Given the description of an element on the screen output the (x, y) to click on. 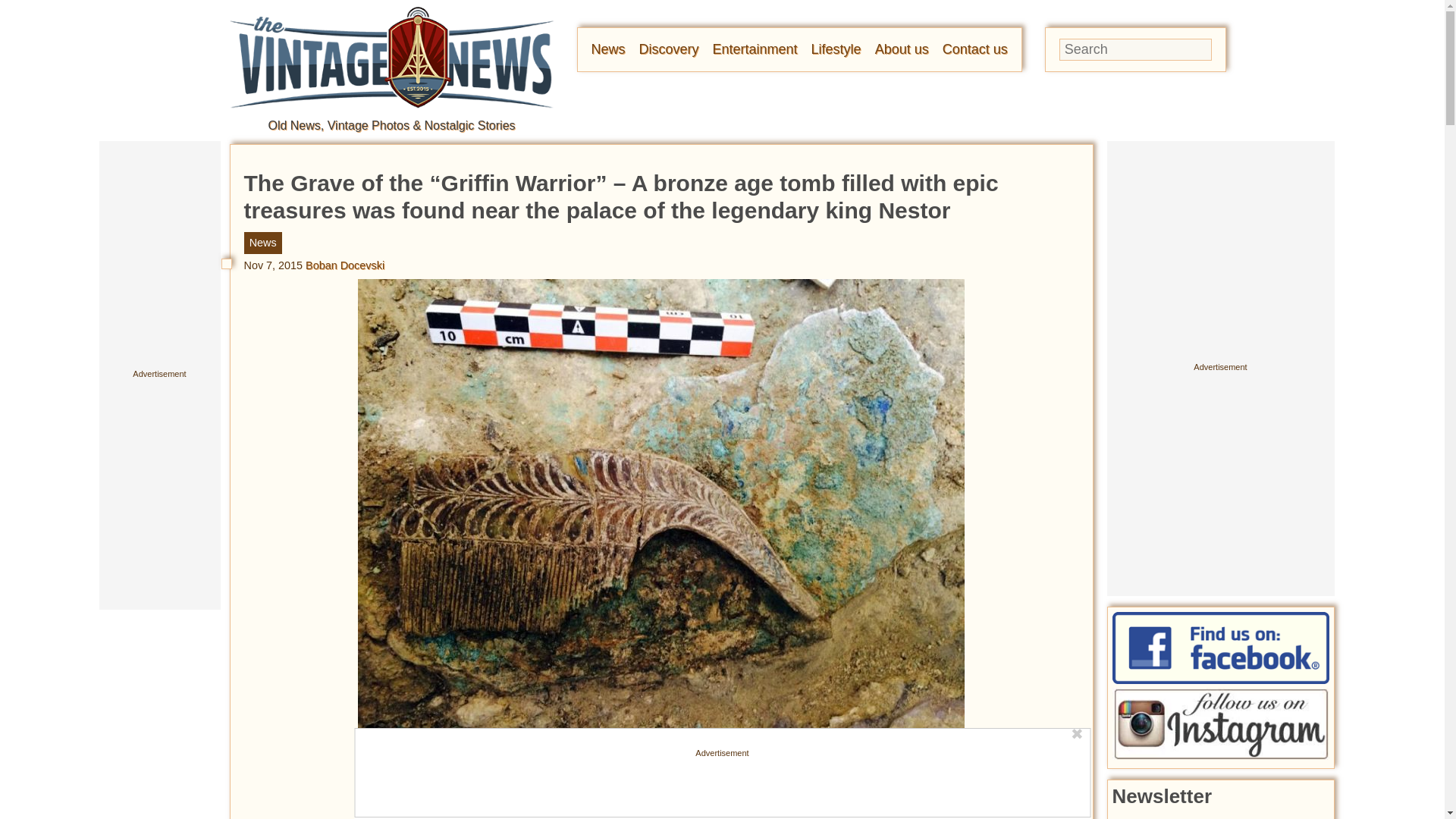
News (608, 48)
Discovery (668, 48)
Contact us (974, 48)
Entertainment (755, 48)
Lifestyle (835, 48)
About us (901, 48)
